Given the description of an element on the screen output the (x, y) to click on. 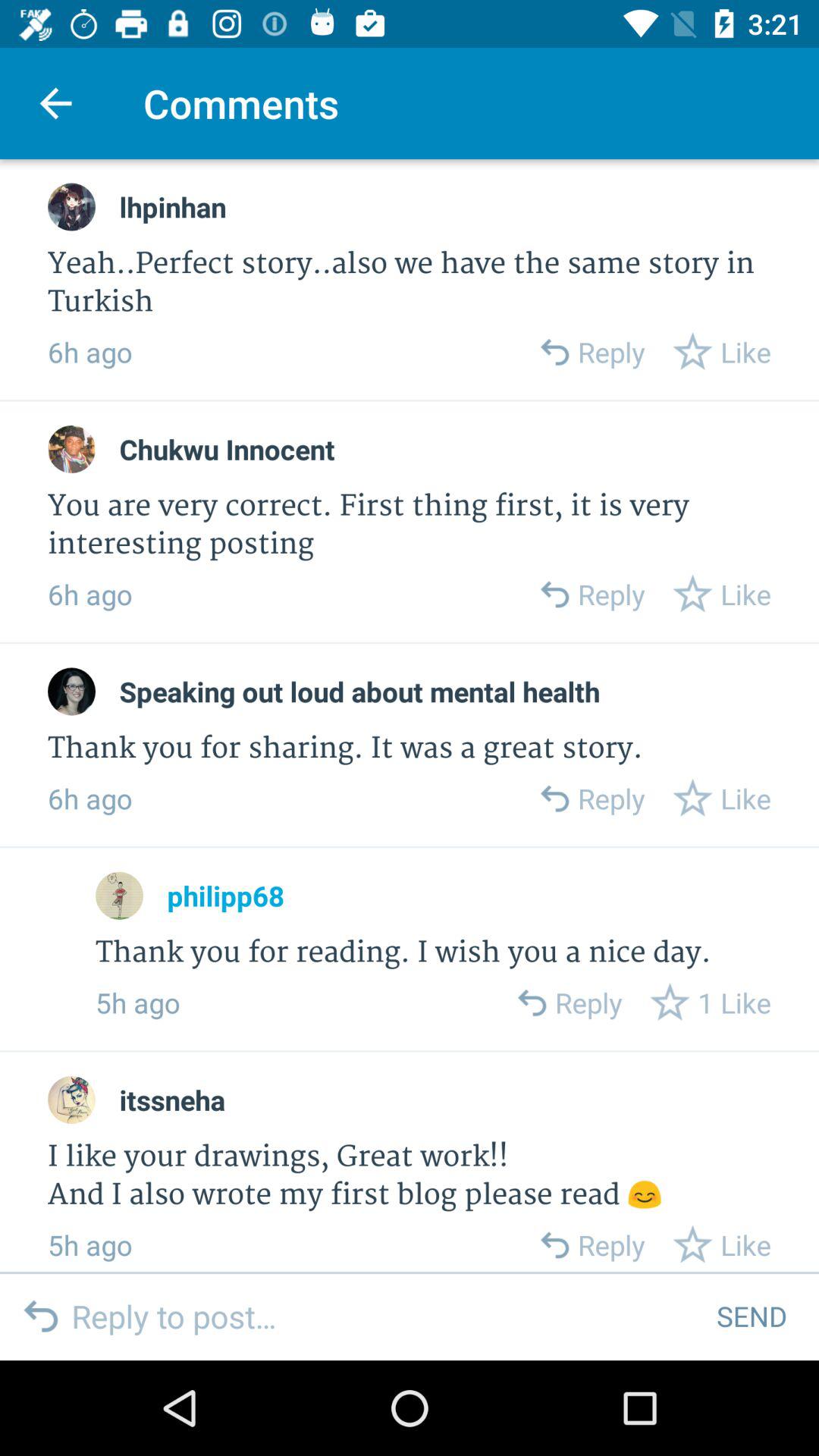
click send (751, 1315)
